Given the description of an element on the screen output the (x, y) to click on. 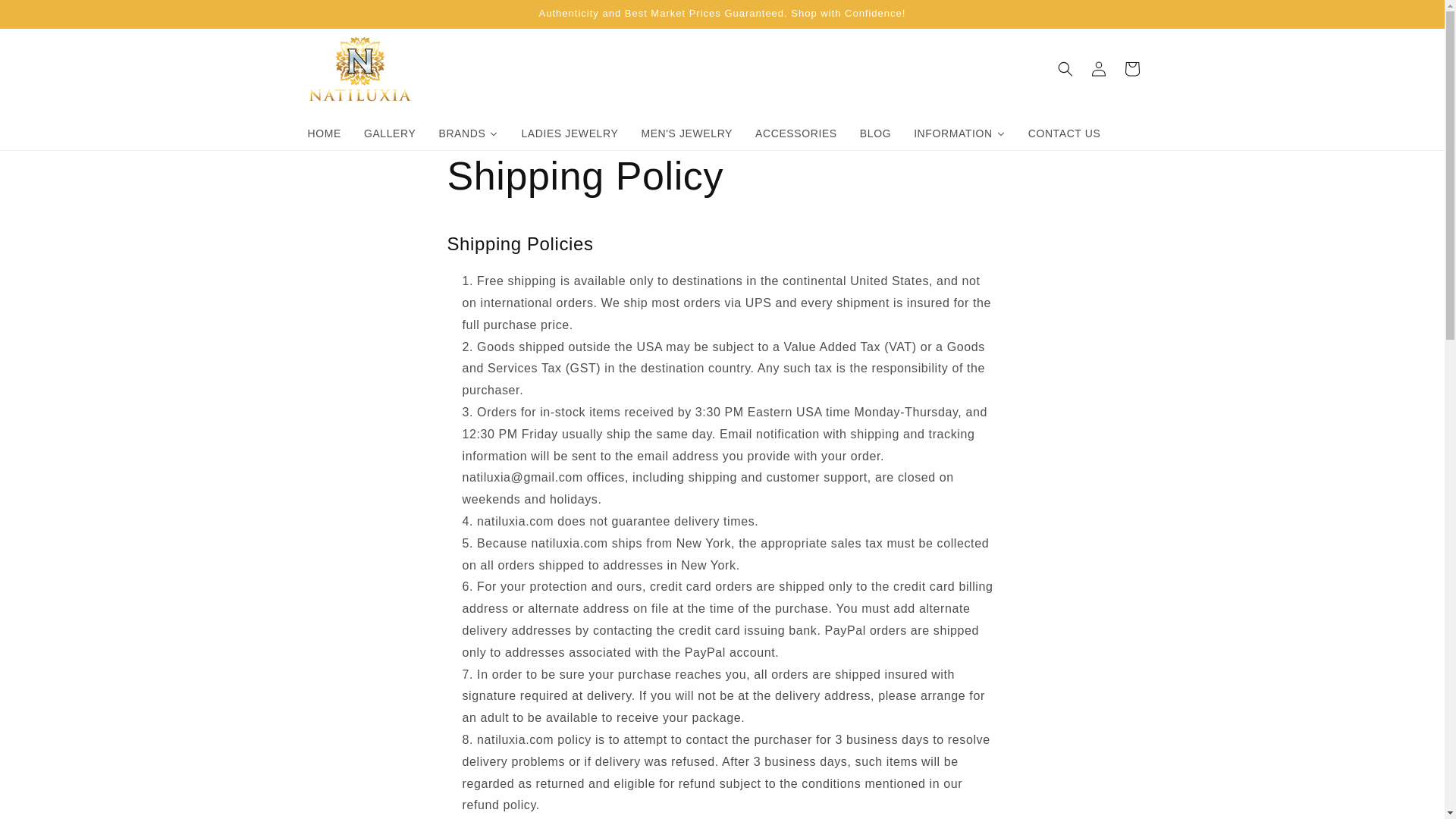
CONTACT US (1064, 133)
LADIES JEWELRY (568, 133)
LADIES JEWELRY (568, 133)
BRANDS (467, 133)
CONTACT US (1064, 133)
INFORMATION (959, 133)
Skip to content (45, 17)
ACCESSORIES (796, 133)
GALLERY (390, 133)
MEN'S JEWELRY (686, 133)
